Given the description of an element on the screen output the (x, y) to click on. 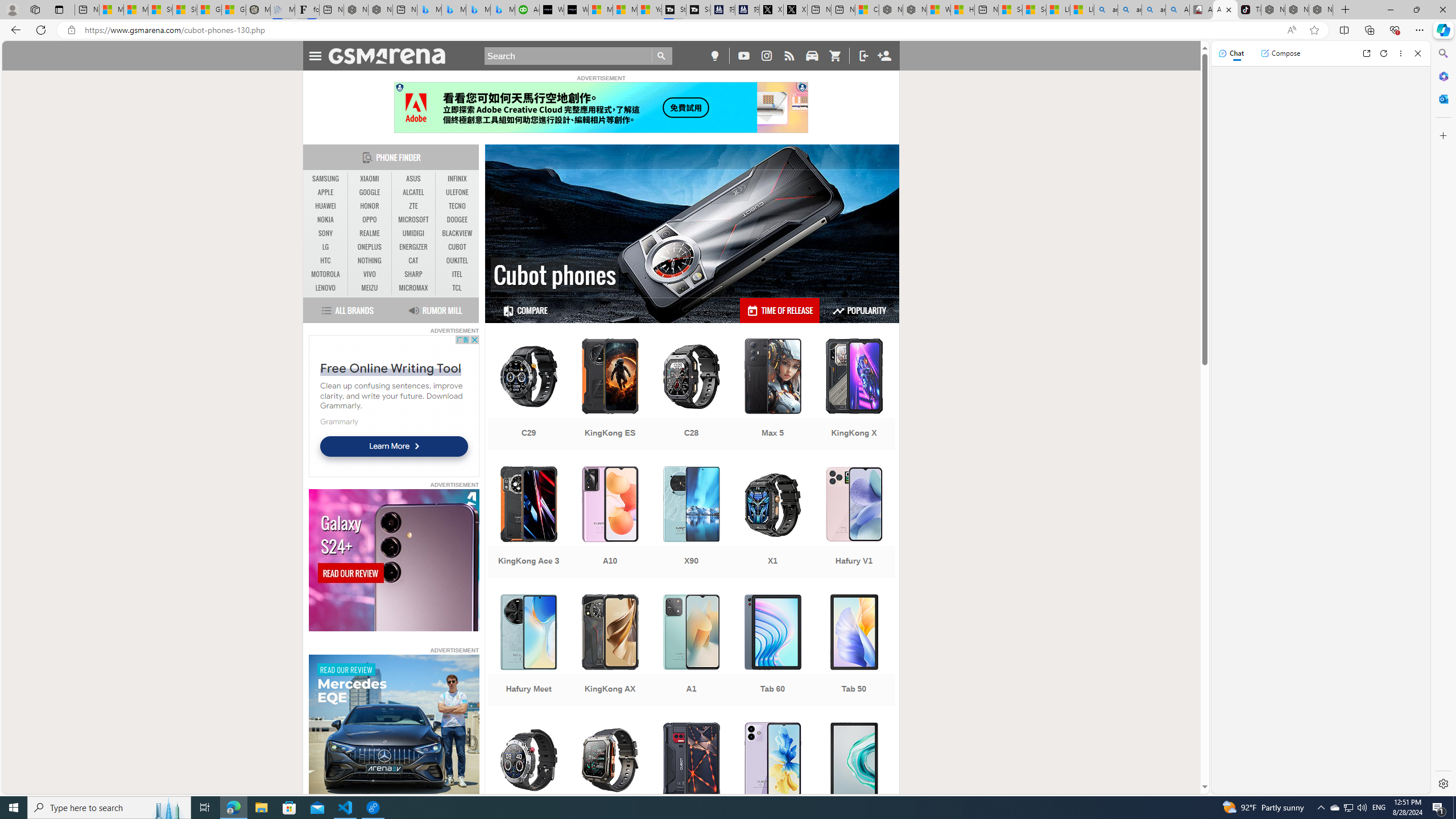
OPPO (369, 219)
HONOR (369, 205)
Microsoft Bing Travel - Stays in Bangkok, Bangkok, Thailand (453, 9)
Accounting Software for Accountants, CPAs and Bookkeepers (526, 9)
X1 (772, 523)
Grammarly (339, 421)
ZTE (413, 205)
C28 (691, 395)
